Given the description of an element on the screen output the (x, y) to click on. 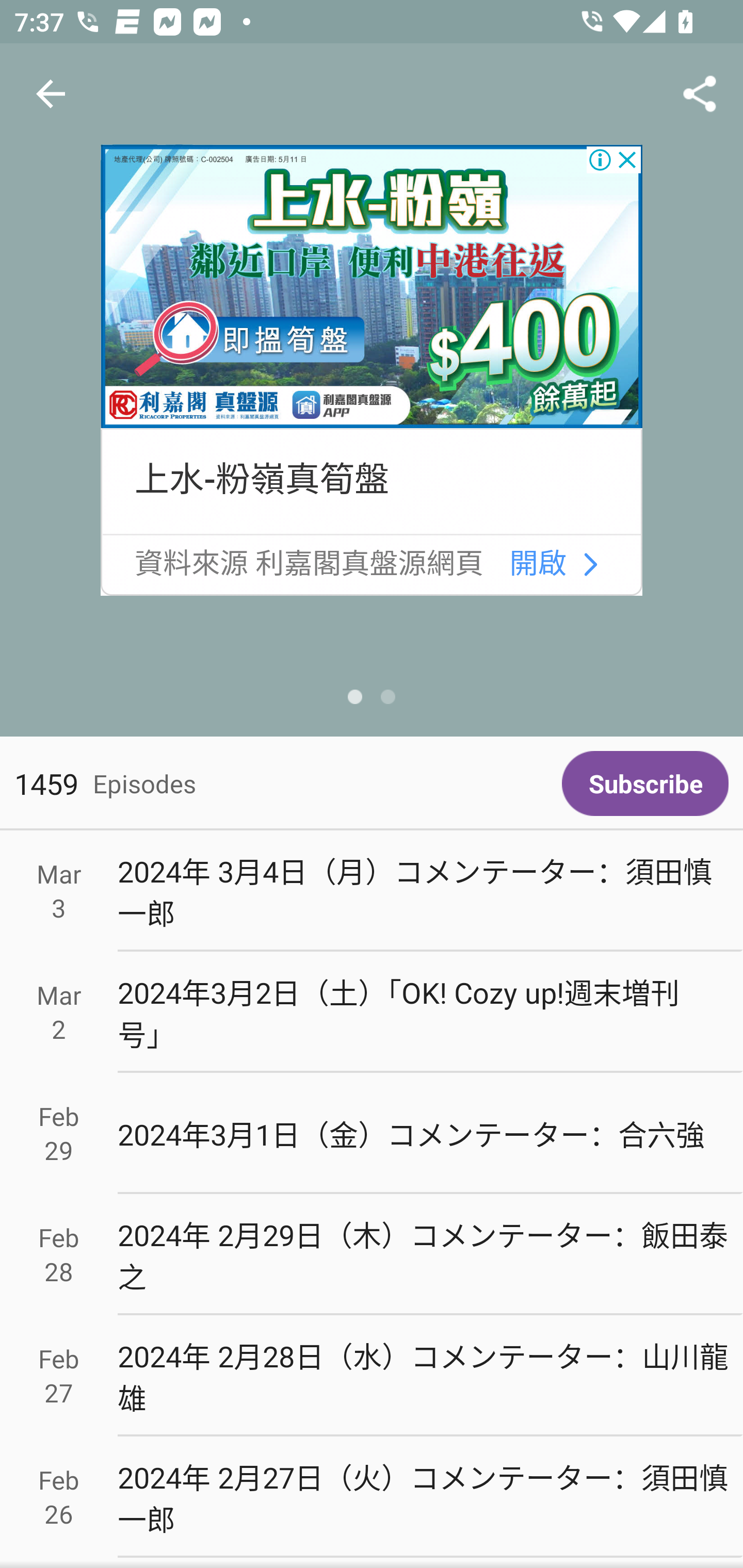
Navigate up (50, 93)
Share... (699, 93)
B30001746 (371, 286)
上水-粉嶺真筍盤 (260, 479)
B30001746 (589, 564)
資料來源 利嘉閣真盤源網頁 (308, 564)
開啟 (538, 564)
Subscribe (644, 783)
Mar 3 2024年 3月4日（月）コメンテーター：須田慎一郎 (371, 891)
Mar 2 2024年3月2日（土）「OK! Cozy up!週末増刊号」 (371, 1011)
Feb 29 2024年3月1日（金）コメンテーター：合六強 (371, 1133)
Feb 28 2024年 2月29日（木）コメンテーター：飯田泰之 (371, 1254)
Feb 27 2024年 2月28日（水）コメンテーター：山川龍雄 (371, 1375)
Feb 26 2024年 2月27日（火）コメンテーター：須田慎一郎 (371, 1496)
